Given the description of an element on the screen output the (x, y) to click on. 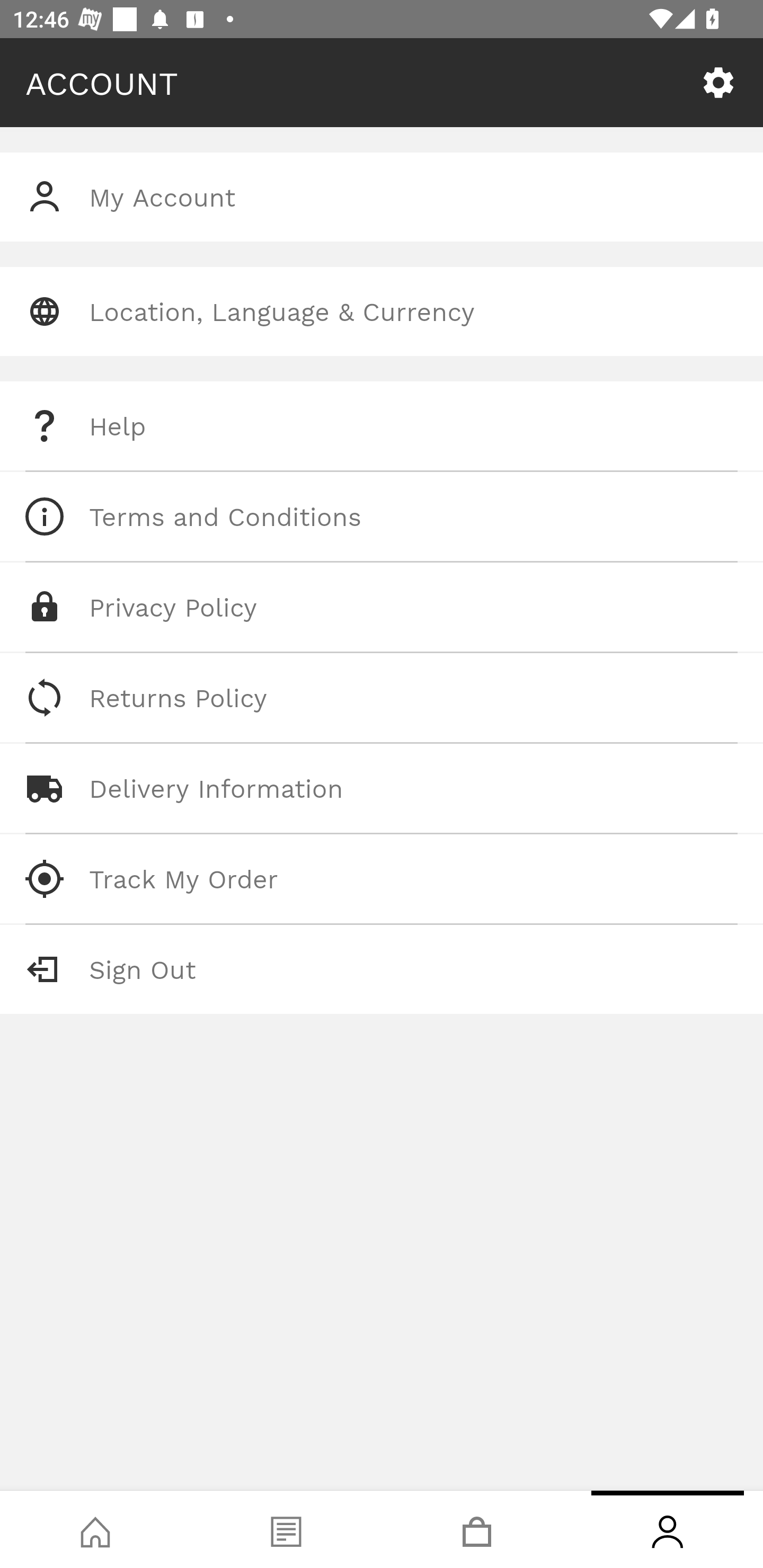
SETTINGS (718, 82)
My Account (381, 196)
Location, Language & Currency (381, 310)
Help (381, 425)
Terms and Conditions (381, 516)
Privacy Policy (381, 607)
Returns Policy (381, 697)
Delivery Information (381, 787)
Track My Order (381, 878)
Sign Out (381, 969)
Shop, tab, 1 of 4 (95, 1529)
Blog, tab, 2 of 4 (285, 1529)
Basket, tab, 3 of 4 (476, 1529)
Account, tab, 4 of 4 (667, 1529)
